Given the description of an element on the screen output the (x, y) to click on. 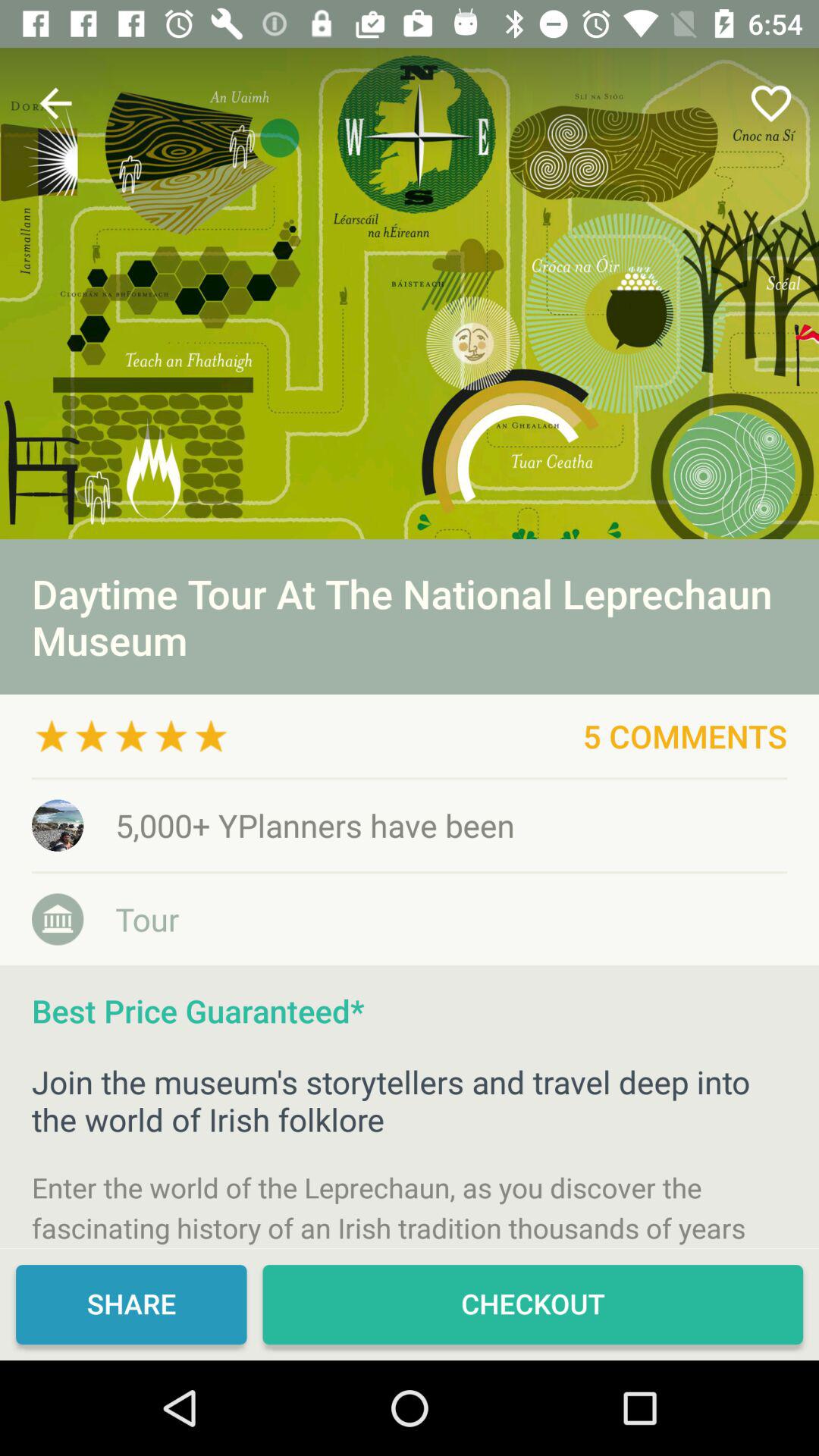
go back button (55, 103)
